Given the description of an element on the screen output the (x, y) to click on. 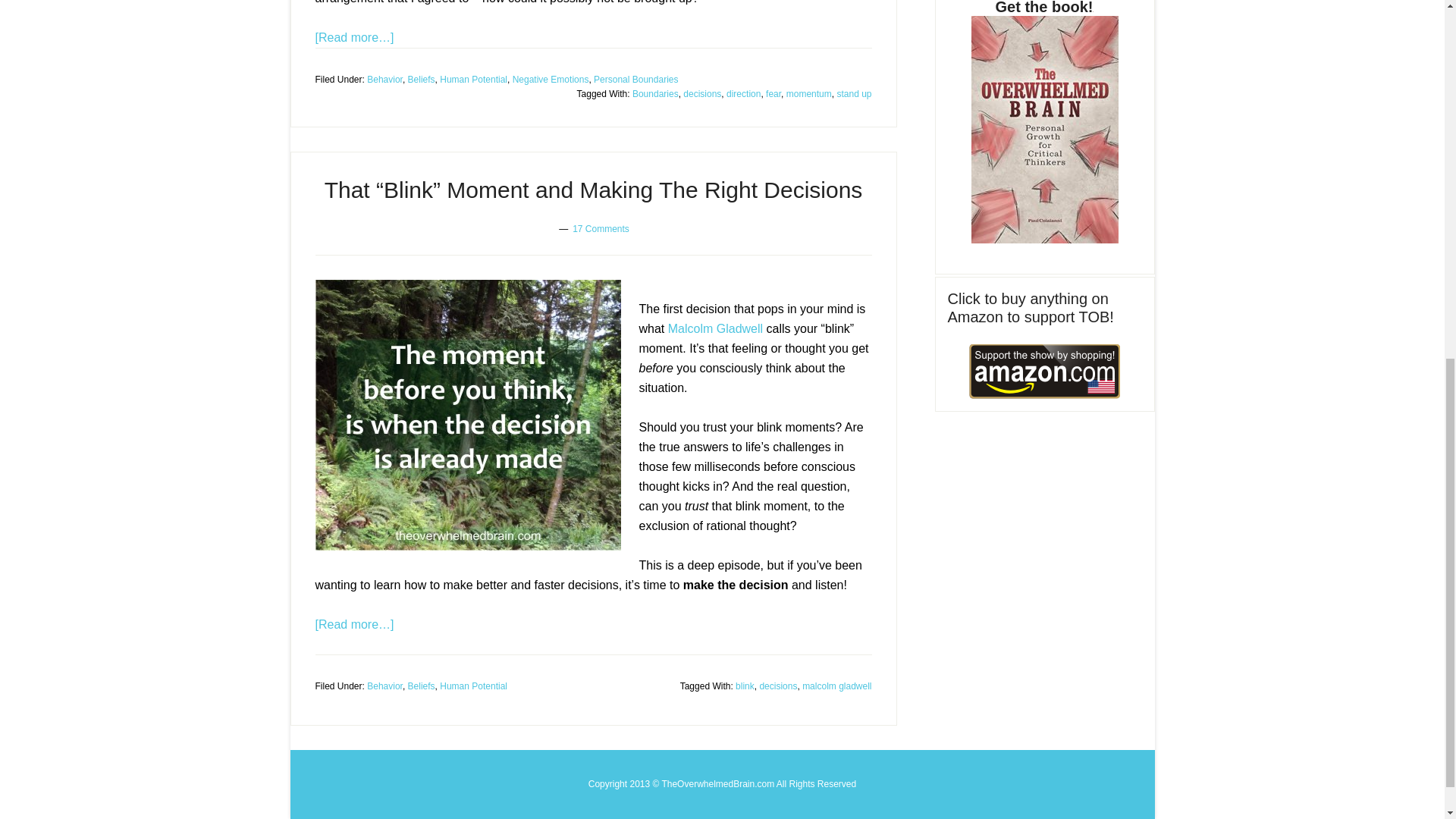
Click to buy anything on Amazon to support TOB! (1045, 370)
17 Comments (600, 228)
Personal Boundaries (636, 78)
stand up (852, 93)
Beliefs (421, 78)
Boundaries (654, 93)
Behavior (384, 78)
momentum (808, 93)
direction (743, 93)
Human Potential (472, 78)
Behavior (384, 685)
fear (772, 93)
Malcolm Gladwell (715, 328)
Beliefs (421, 685)
Human Potential (472, 685)
